Given the description of an element on the screen output the (x, y) to click on. 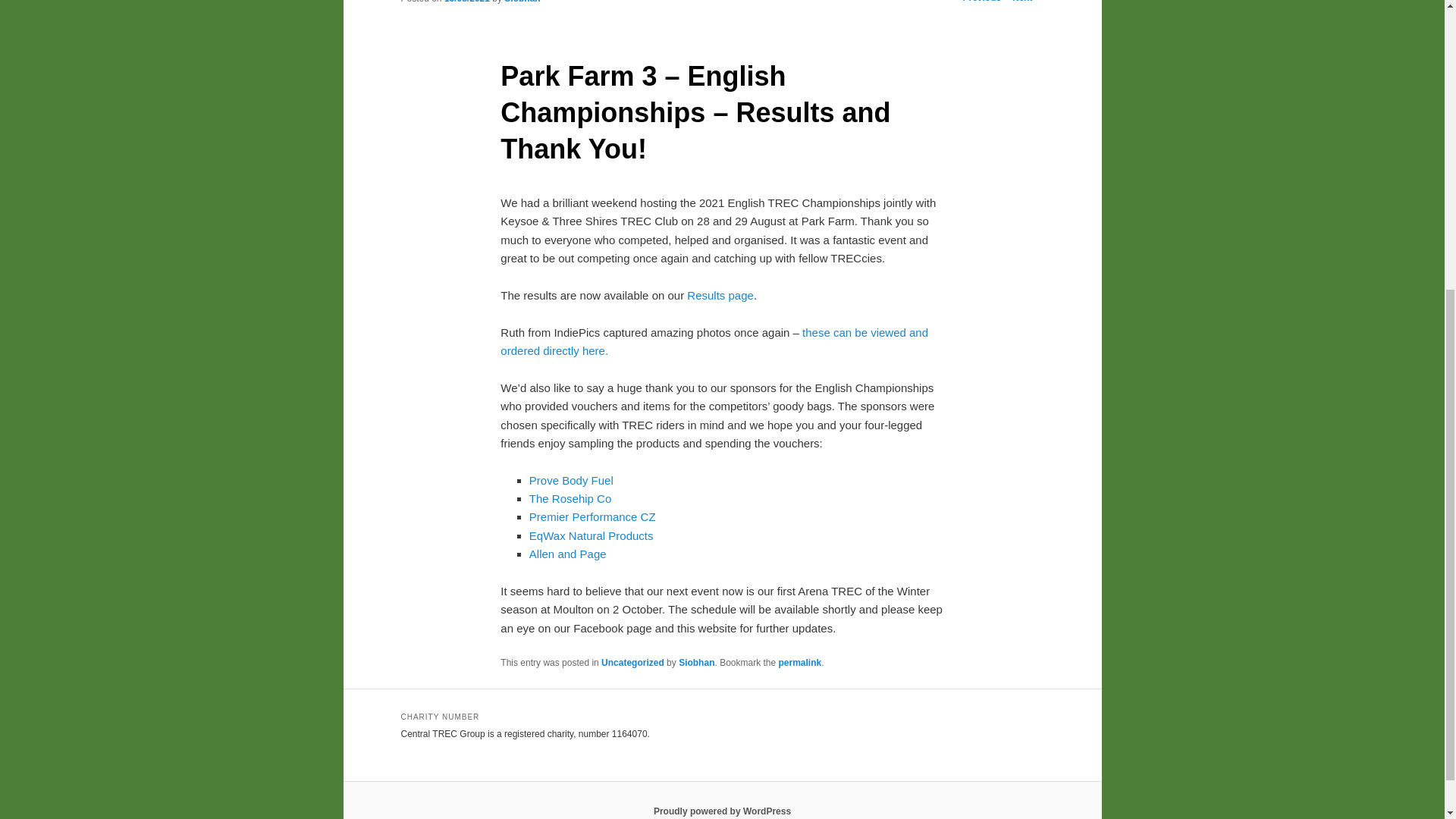
View all posts by Siobhan (521, 2)
Results page (719, 295)
6:03 pm (466, 2)
Siobhan (521, 2)
Semantic Personal Publishing Platform (721, 810)
